Given the description of an element on the screen output the (x, y) to click on. 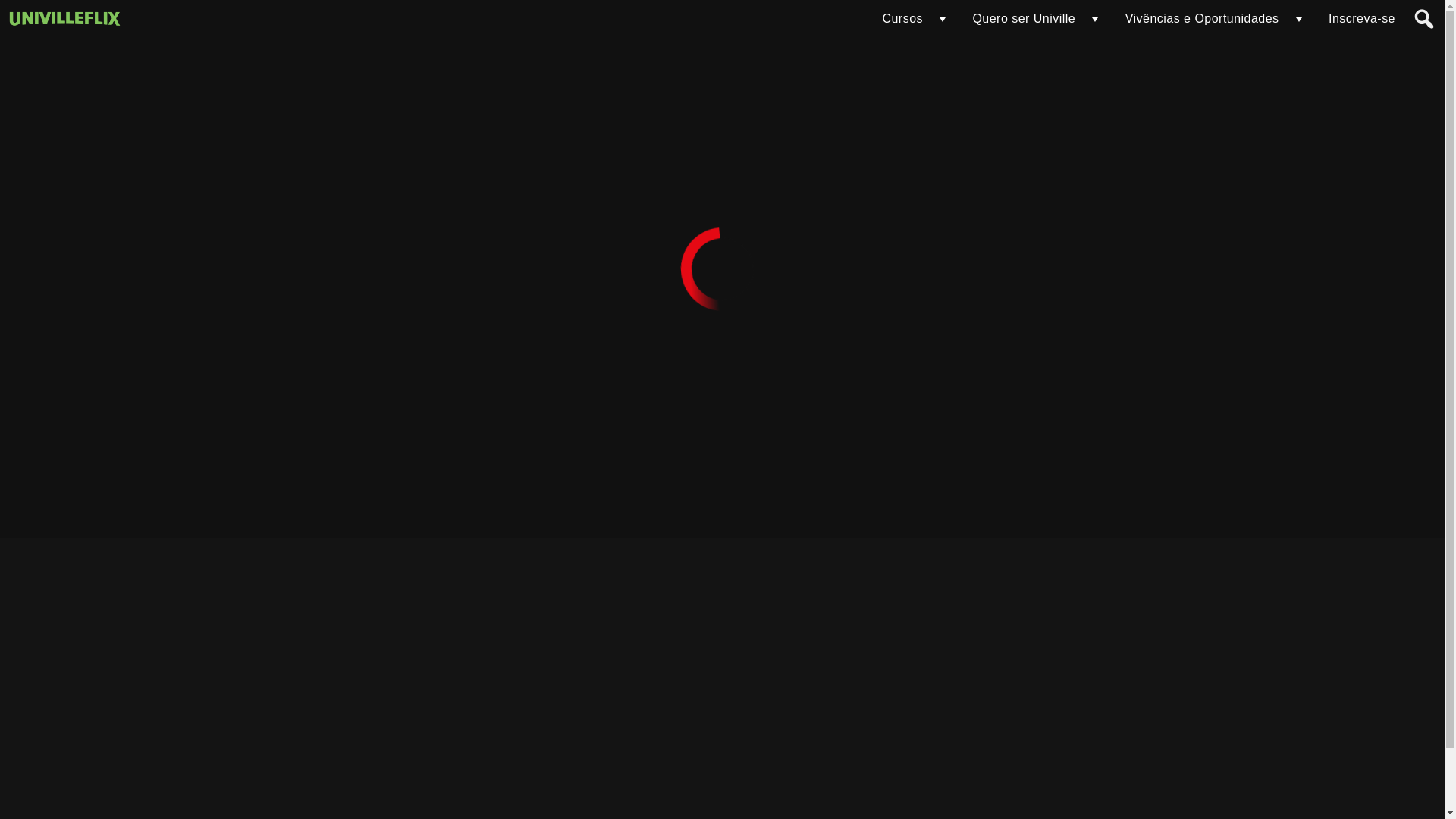
Inscreva-se Element type: text (1361, 18)
Quero ser Univille Element type: text (1023, 18)
Cursos Element type: text (901, 18)
